Given the description of an element on the screen output the (x, y) to click on. 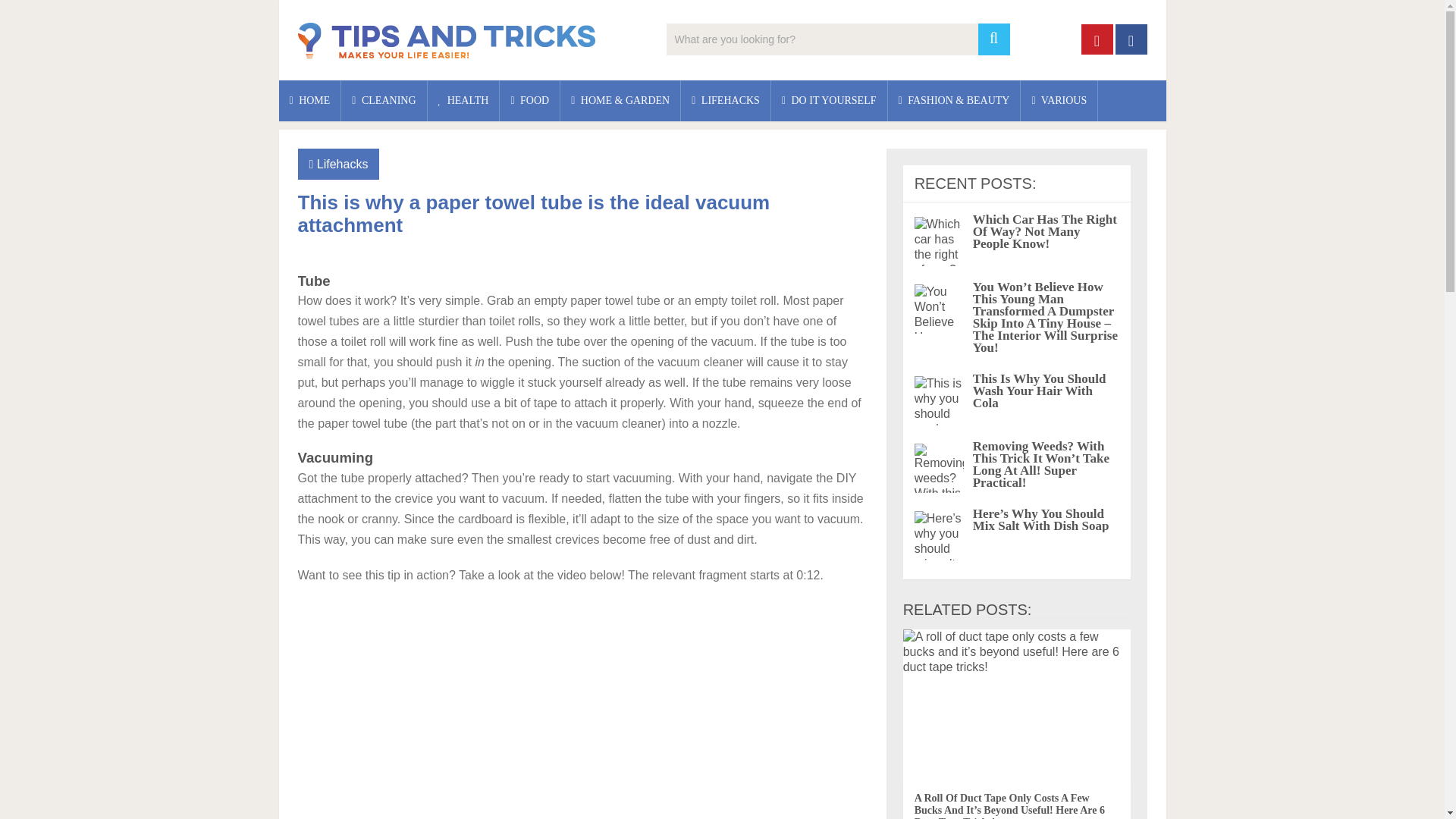
View all posts in Lifehacks (342, 164)
Which car has the right of way? Not many people know! (938, 241)
This is why you should wash your hair with cola (1039, 390)
HOME (309, 100)
Which Car Has The Right Of Way? Not Many People Know! (1044, 231)
This is why you should wash your hair with cola (938, 400)
DO IT YOURSELF (828, 100)
Lifehacks (342, 164)
VARIOUS (1058, 100)
CLEANING (383, 100)
